Given the description of an element on the screen output the (x, y) to click on. 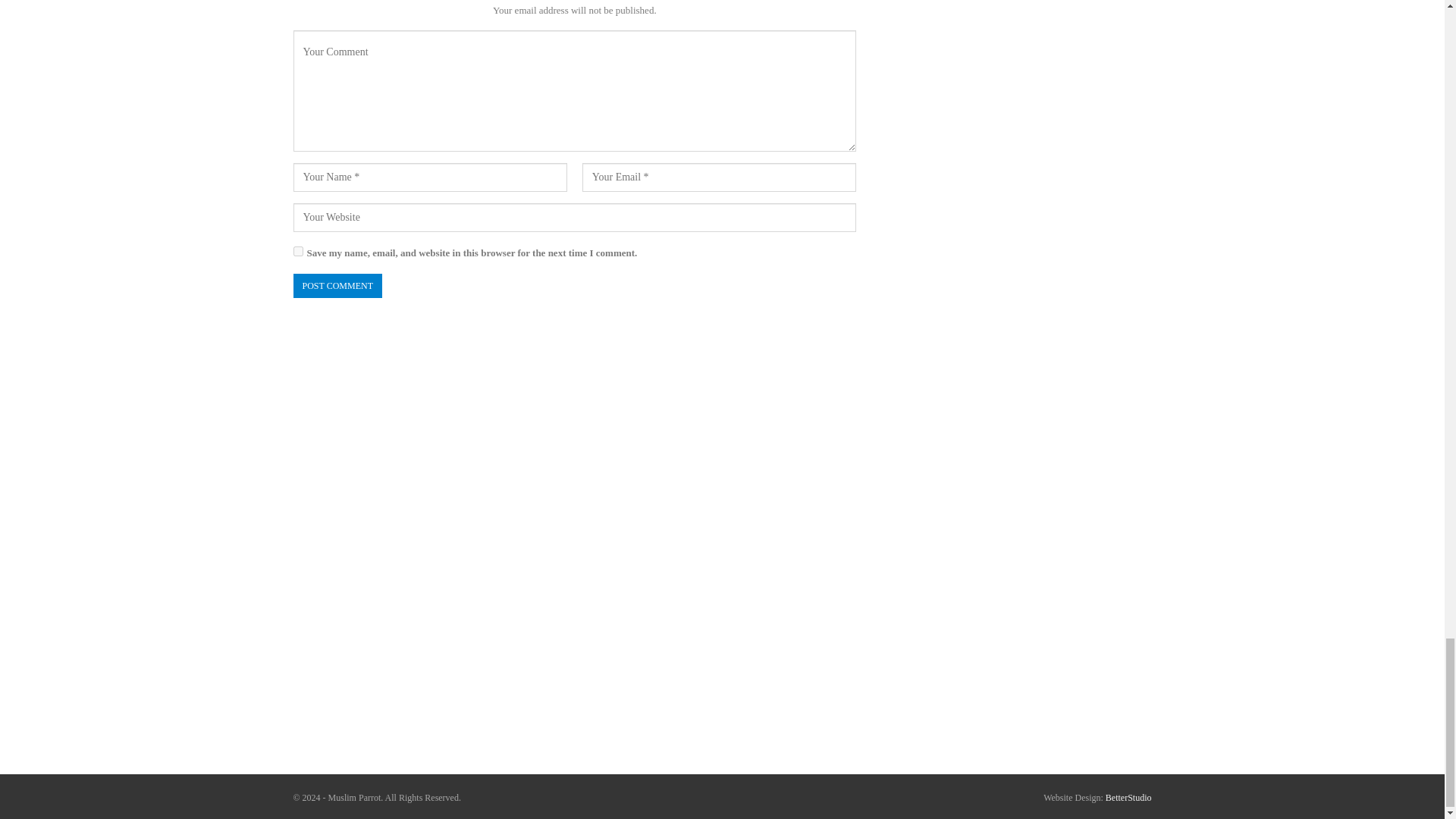
Post Comment (336, 285)
yes (297, 251)
